Given the description of an element on the screen output the (x, y) to click on. 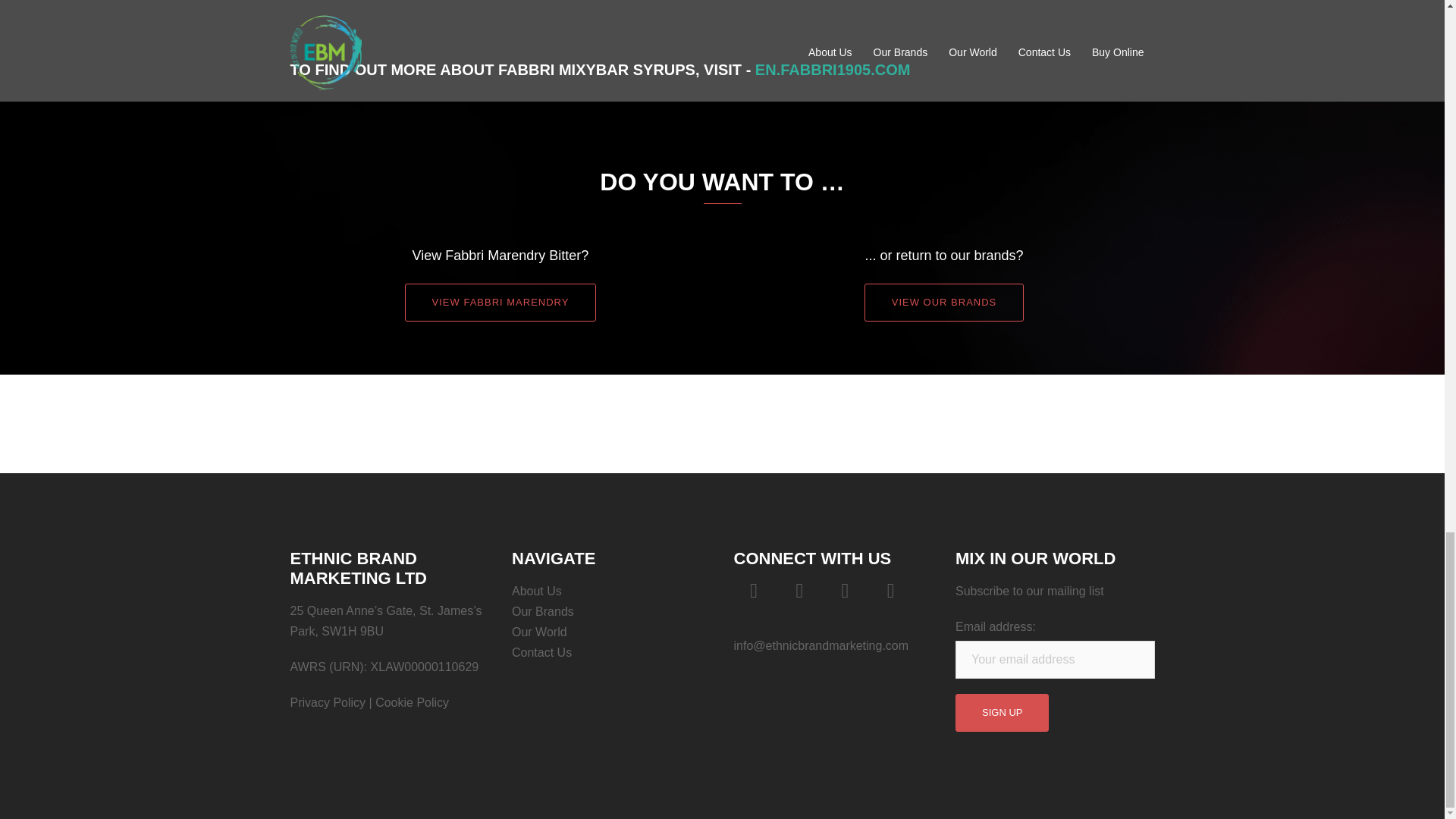
VIEW FABBRI MARENDRY (500, 302)
Our Brands (542, 611)
EN.FABBRI1905.COM (833, 69)
Contact Us (542, 652)
Sign up (1001, 712)
Sign up (1001, 712)
About Us (537, 590)
Our World (539, 631)
Cookie Policy (411, 702)
Privacy Policy (327, 702)
VIEW OUR BRANDS (944, 302)
